Given the description of an element on the screen output the (x, y) to click on. 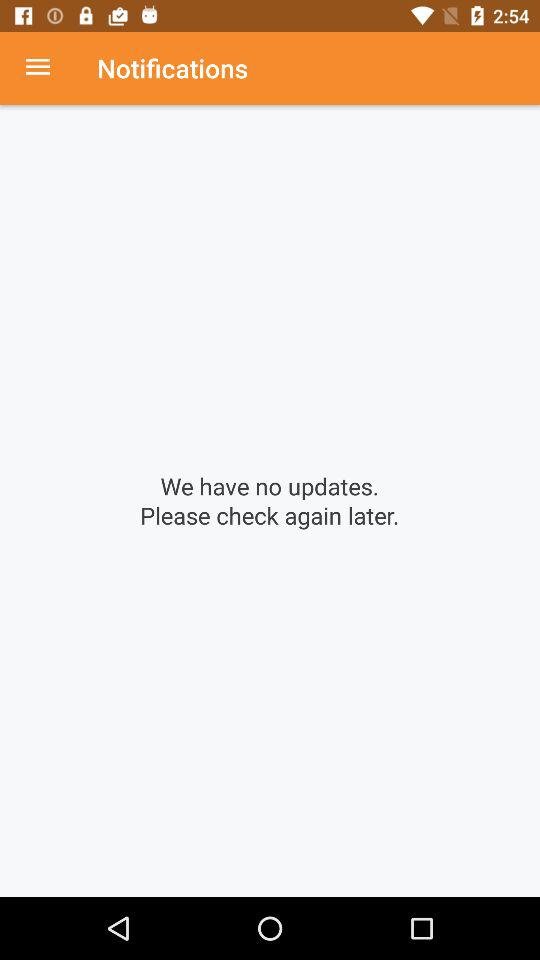
view menu items (48, 67)
